Given the description of an element on the screen output the (x, y) to click on. 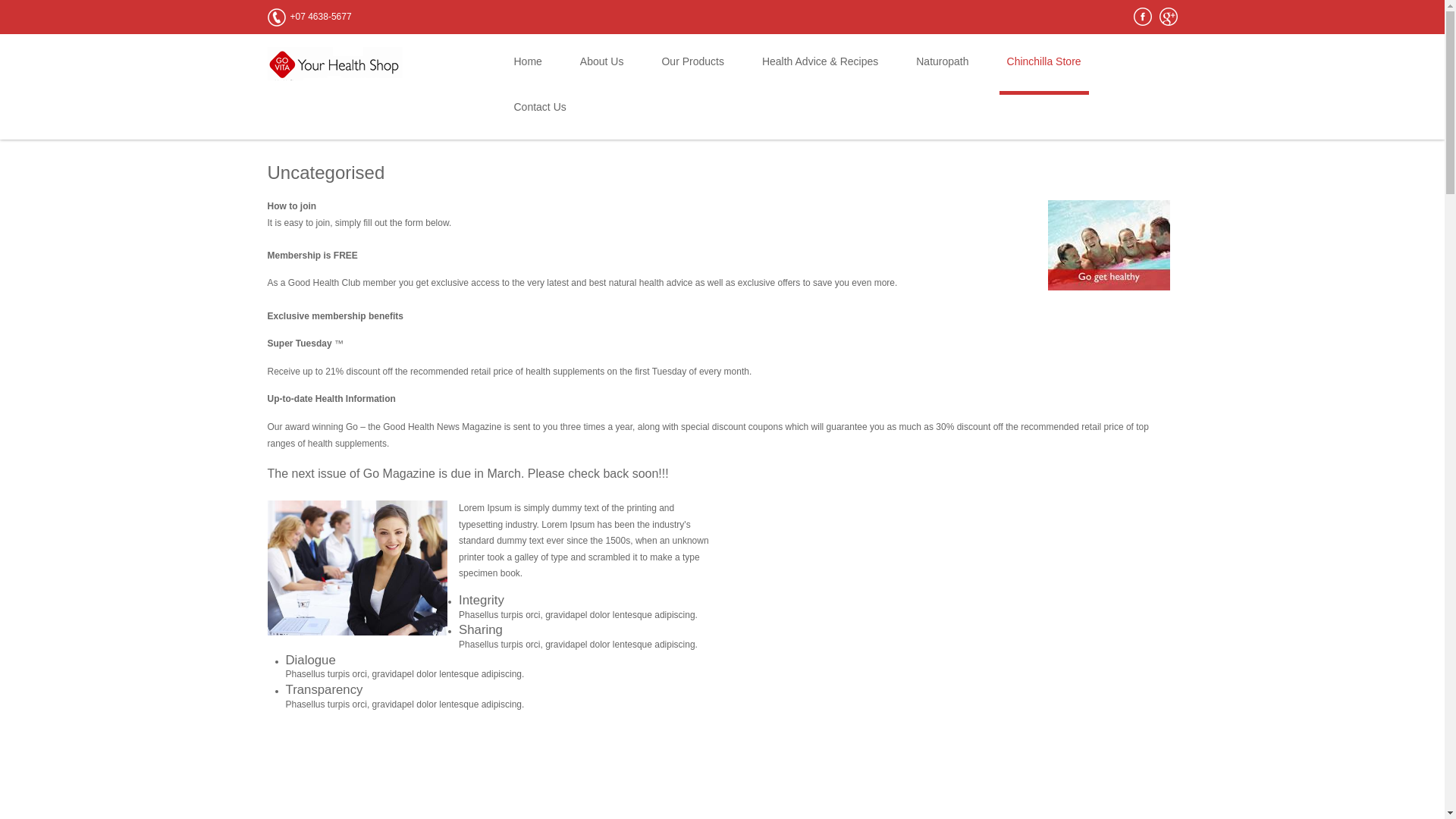
Health Advice & Recipes Element type: text (820, 71)
Home Element type: text (527, 71)
About Us Element type: text (602, 71)
Contact Us Element type: text (539, 116)
Google+ Element type: text (1167, 16)
Naturopath Element type: text (942, 71)
Chinchilla Store Element type: text (1044, 71)
Our Products Element type: text (692, 71)
facebook Element type: text (1141, 16)
